Given the description of an element on the screen output the (x, y) to click on. 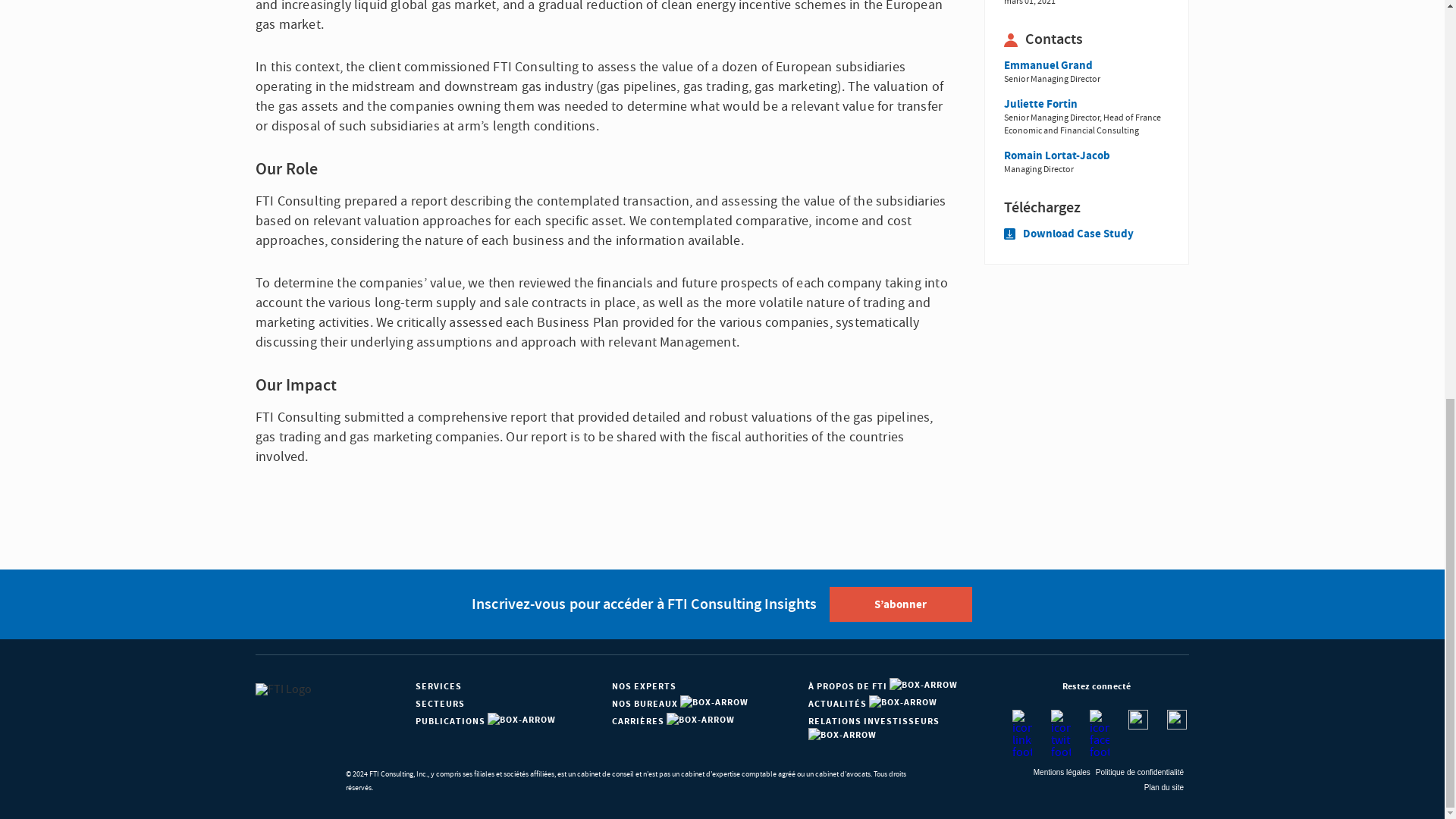
Contacts (1086, 39)
Download Case Study (1069, 233)
Download (1086, 208)
